Given the description of an element on the screen output the (x, y) to click on. 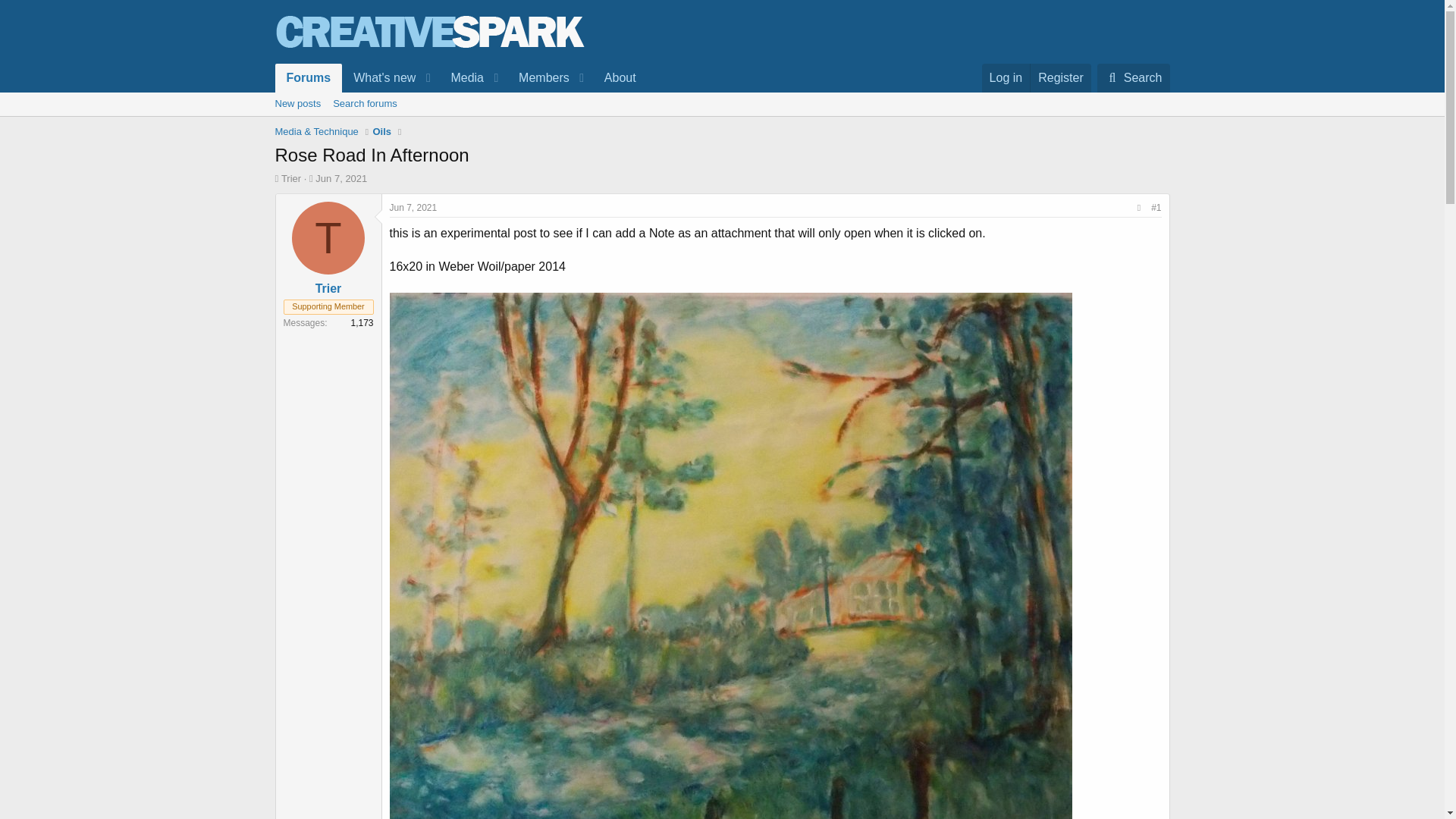
Register (1059, 77)
Log in (1005, 77)
Jun 7, 2021 at 2:56 PM (720, 120)
Jun 7, 2021 (340, 178)
Oils (340, 178)
Jun 7, 2021 at 2:56 PM (381, 131)
Search forums (414, 207)
DSCN0217wOilRoseRdM1.JPG (364, 103)
Search (459, 94)
New posts (461, 77)
